Given the description of an element on the screen output the (x, y) to click on. 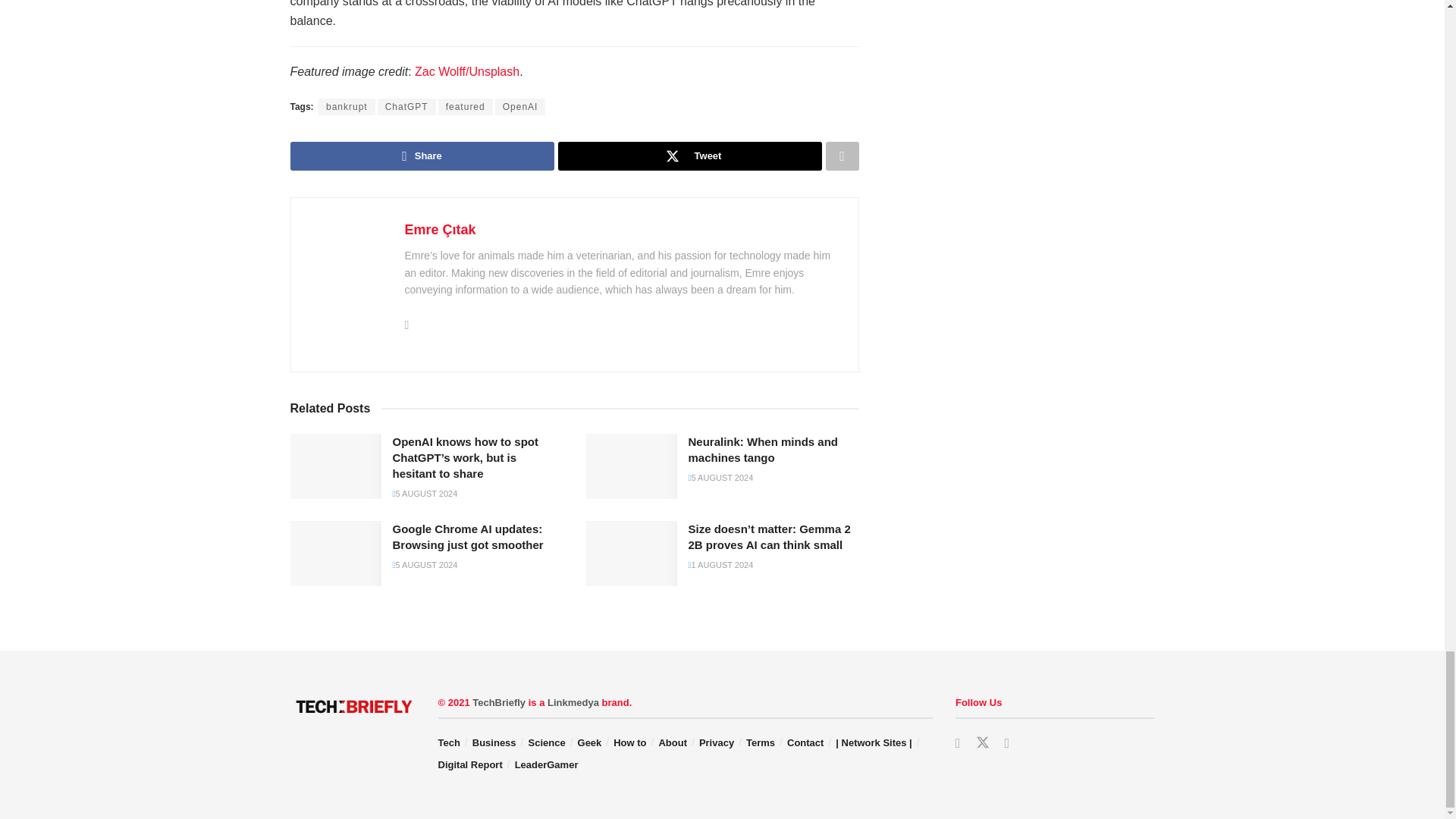
Neuralink: When minds and machines tango (631, 466)
Linkmedya (572, 702)
TechBriefly (498, 702)
Google Chrome AI updates: Browsing just got smoother (334, 553)
